Given the description of an element on the screen output the (x, y) to click on. 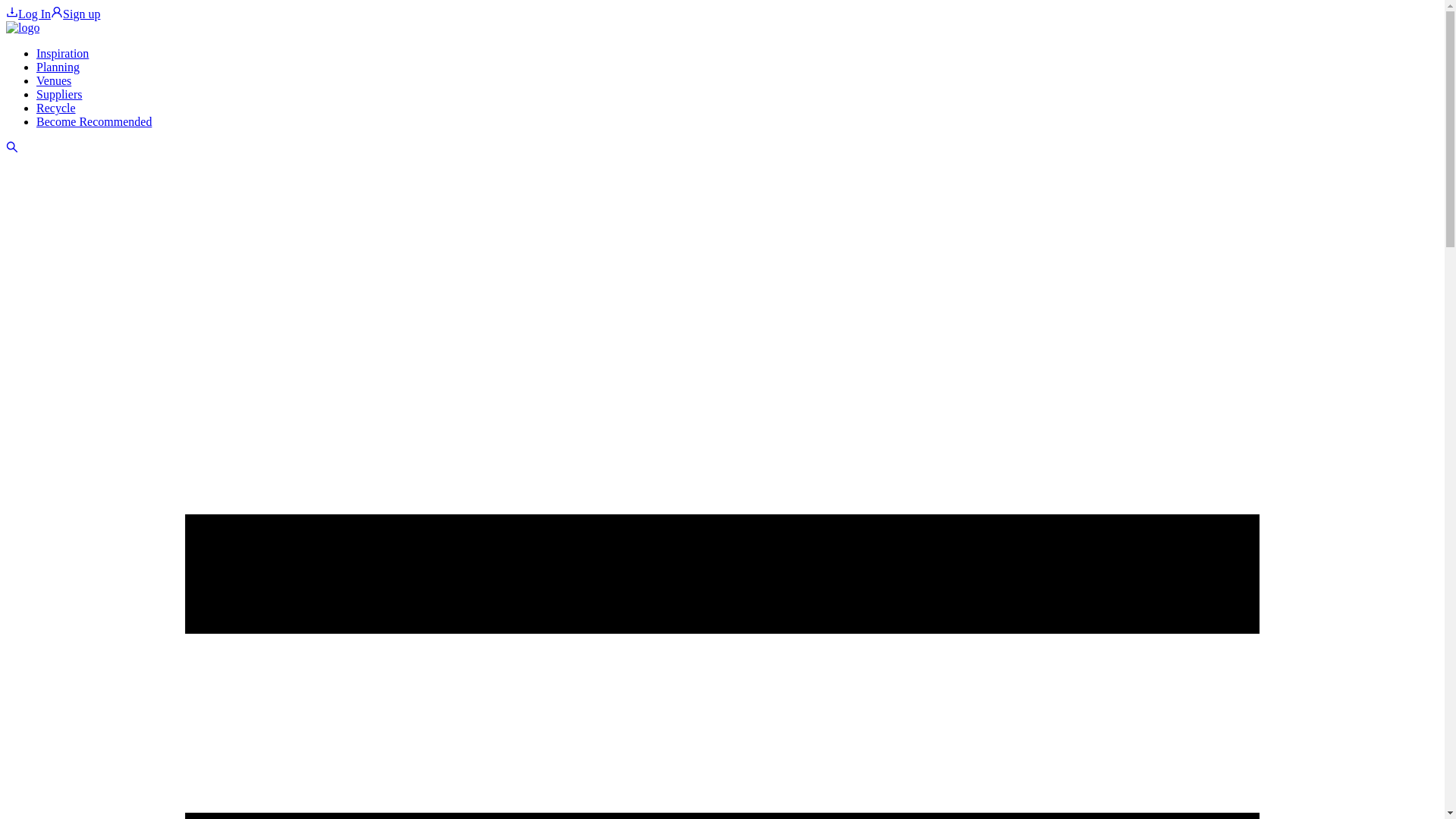
Venues (53, 80)
Recycle (55, 107)
Inspiration (62, 52)
Sign up (75, 13)
Suppliers (58, 93)
Log In (27, 13)
Become Recommended (93, 121)
Planning (58, 66)
